Given the description of an element on the screen output the (x, y) to click on. 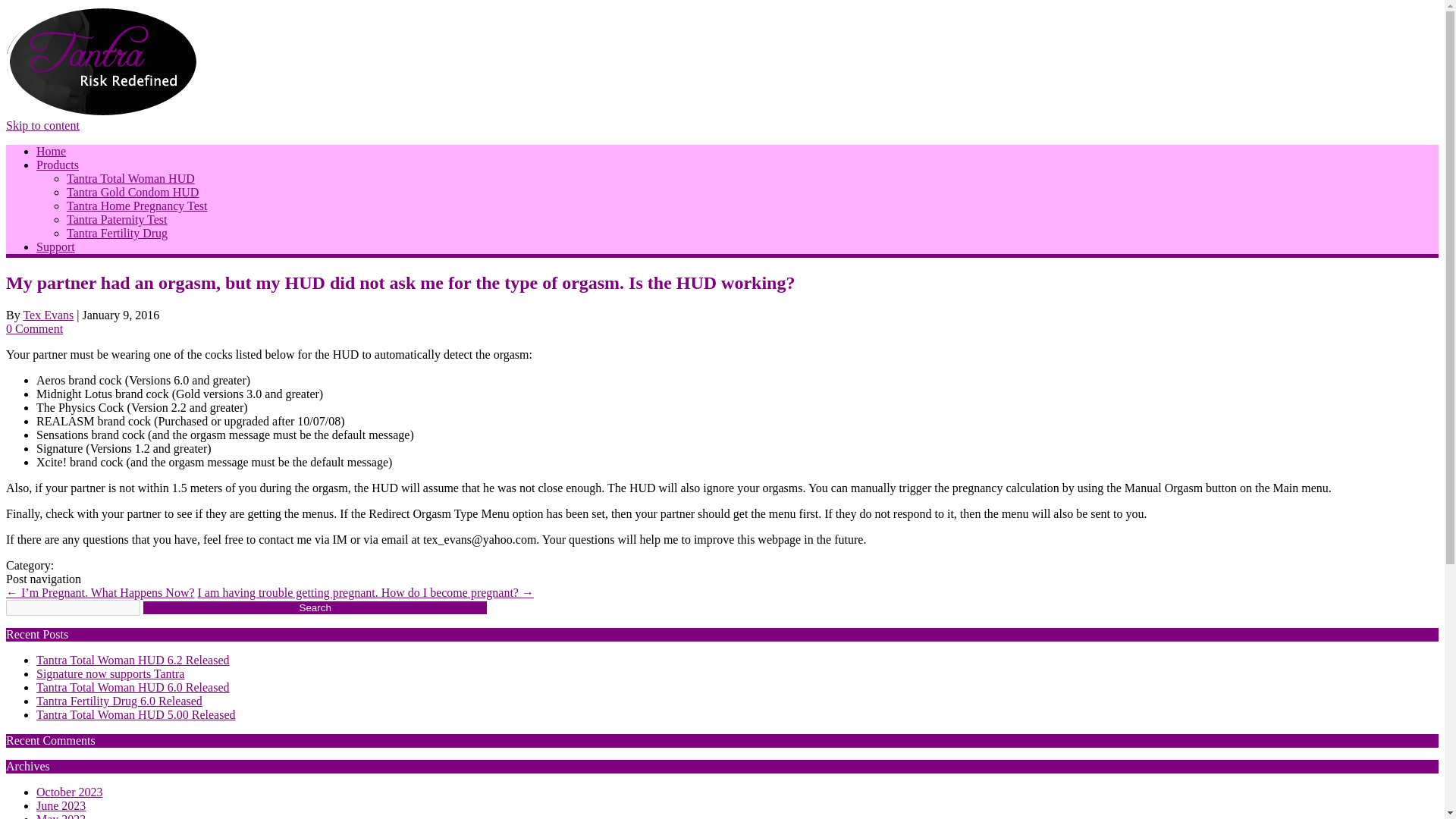
Tantra Total Woman HUD (130, 178)
0 Comment (33, 328)
Skip to content (42, 124)
Search (314, 607)
Tantra Fertility Drug 6.0 Released (119, 700)
Tantra Paternity Test (116, 219)
Tantra Total Woman HUD 6.0 Released (132, 686)
June 2023 (60, 805)
Support (55, 246)
Tantra (102, 111)
